Given the description of an element on the screen output the (x, y) to click on. 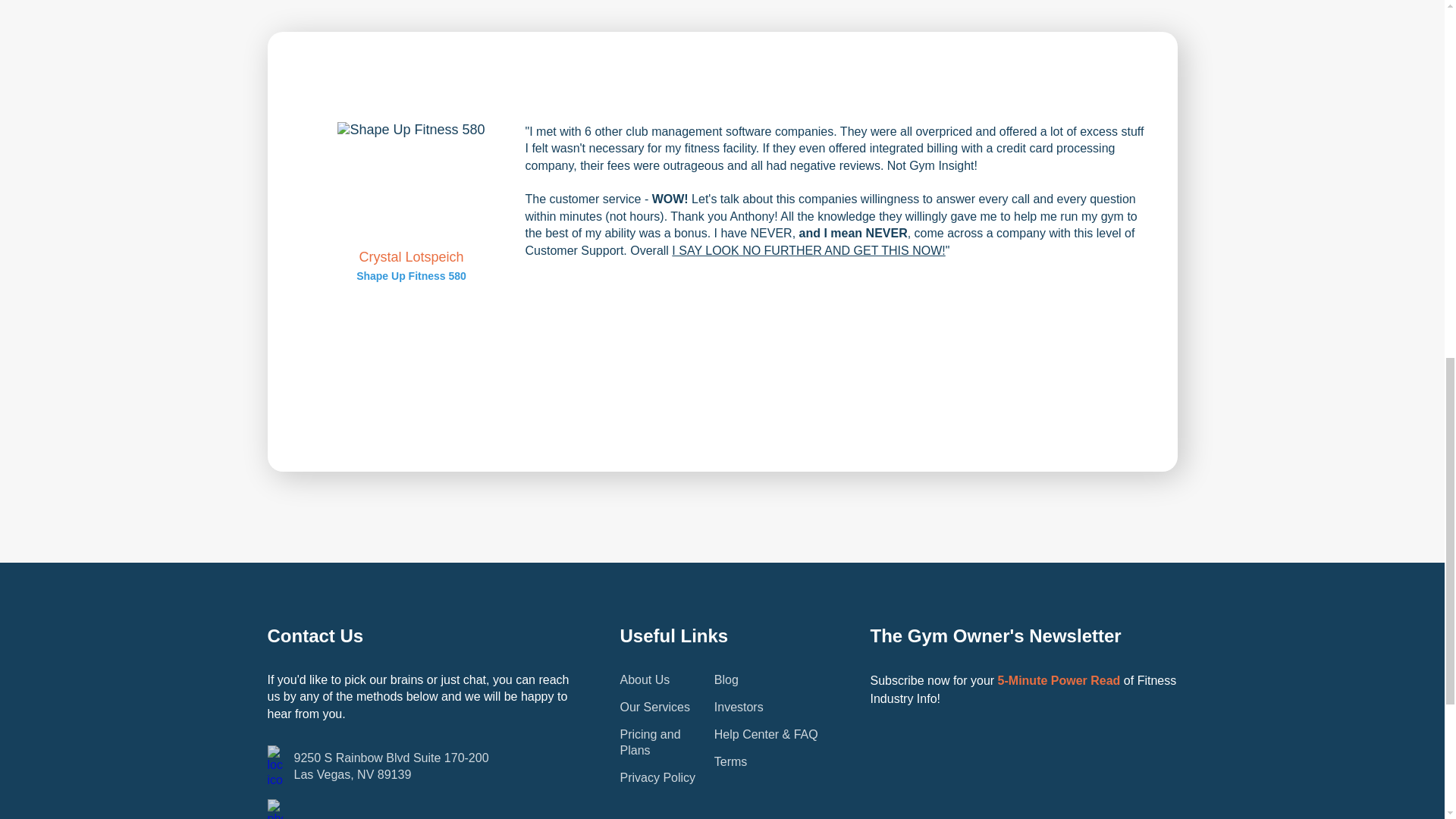
Our Services (655, 707)
Phone: 1-855-FOR-GYMS (419, 809)
Form 0 (1023, 772)
Blog (726, 679)
About Us (644, 679)
Terms (731, 761)
Investors (738, 707)
Privacy Policy (657, 777)
Pricing and Plans (419, 766)
